Given the description of an element on the screen output the (x, y) to click on. 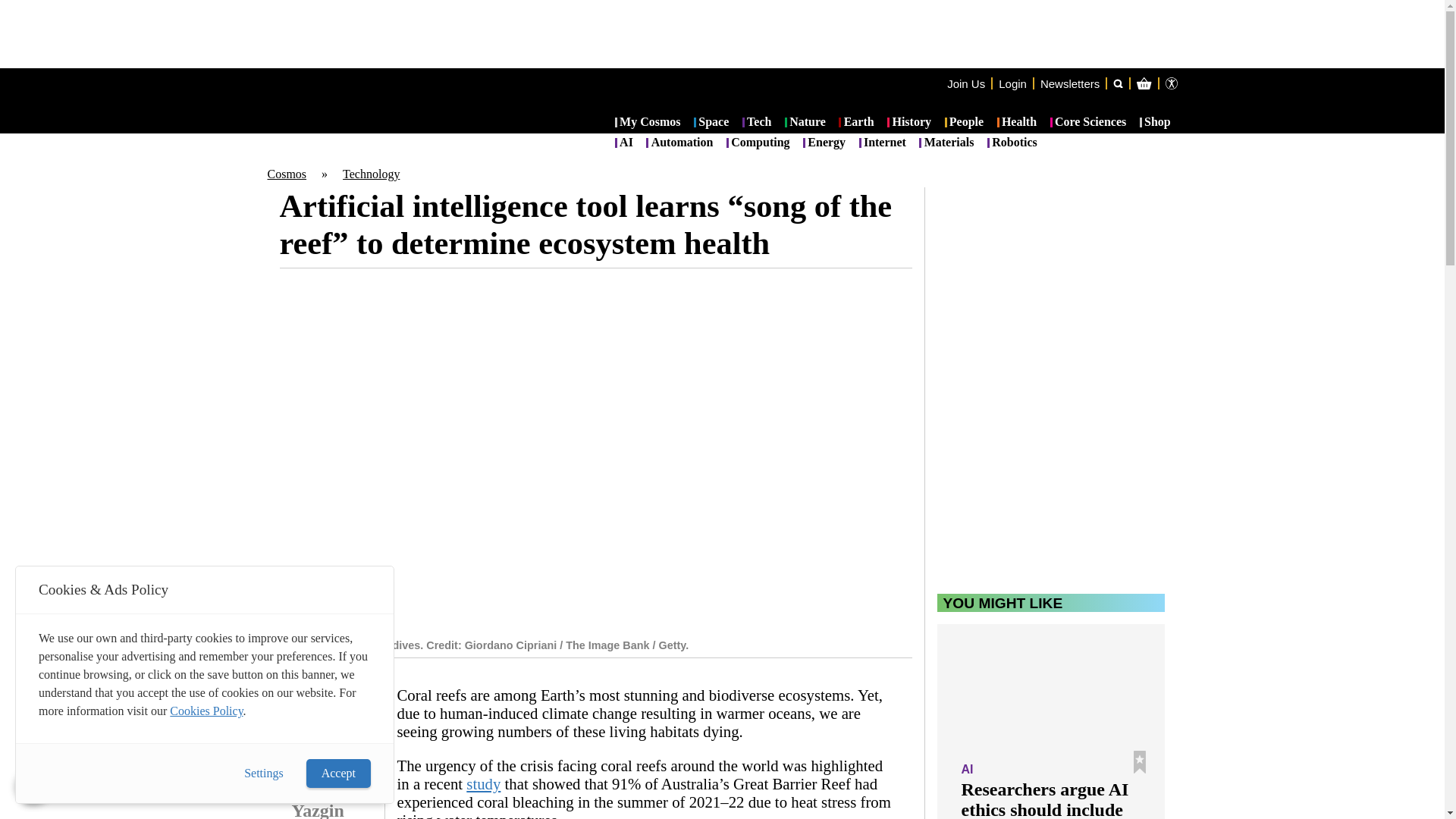
Tech (756, 122)
Core Sciences (1087, 122)
Internet (882, 143)
Join Us (966, 82)
Materials (946, 143)
Computing (758, 143)
Earth (855, 122)
AI (623, 143)
Shop (1155, 122)
Nature (804, 122)
My Cosmos (647, 122)
Automation (679, 143)
Space (711, 122)
Cosmos (285, 173)
Health (1016, 122)
